Given the description of an element on the screen output the (x, y) to click on. 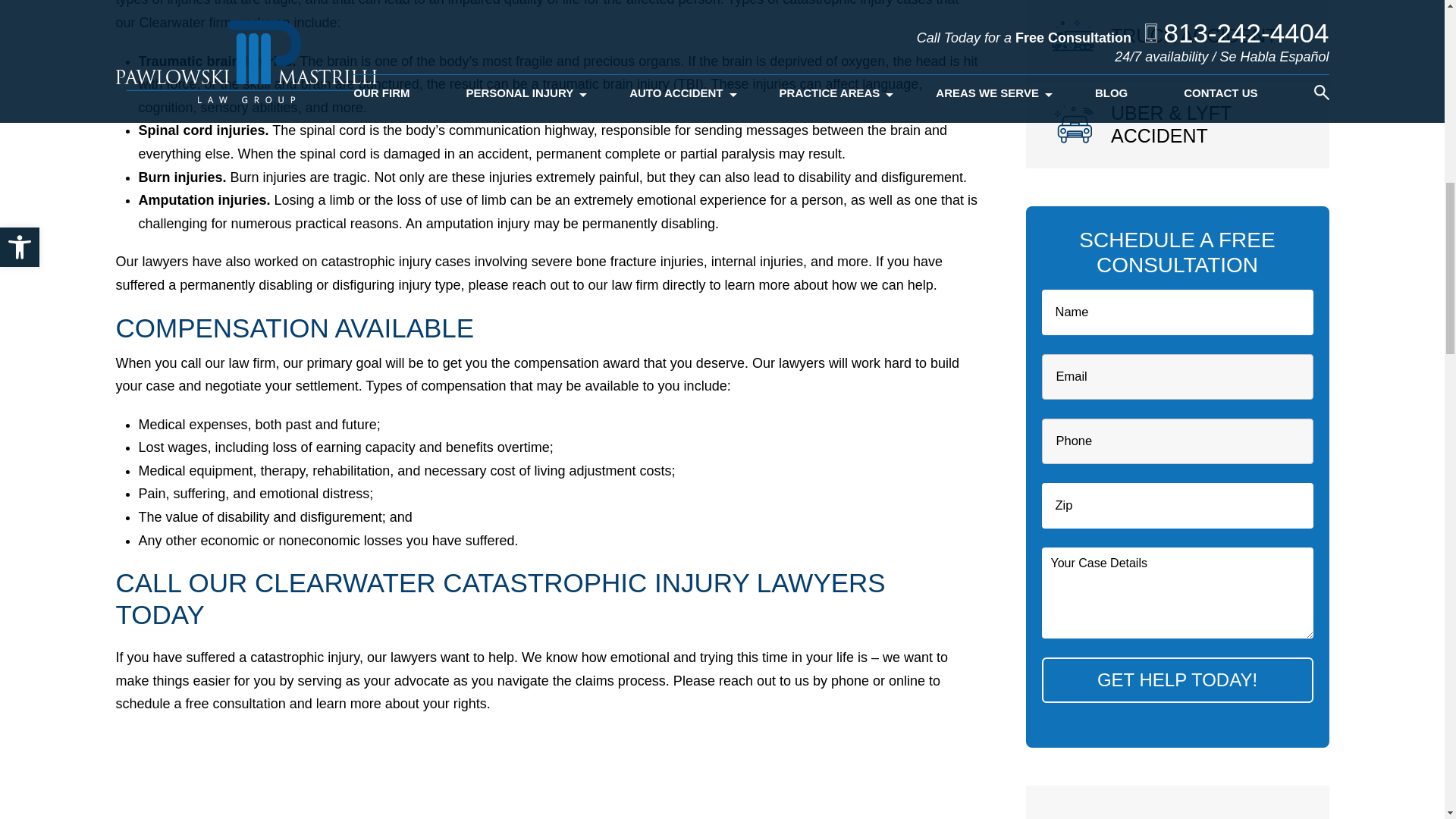
Get Help Today! (1177, 679)
